Given the description of an element on the screen output the (x, y) to click on. 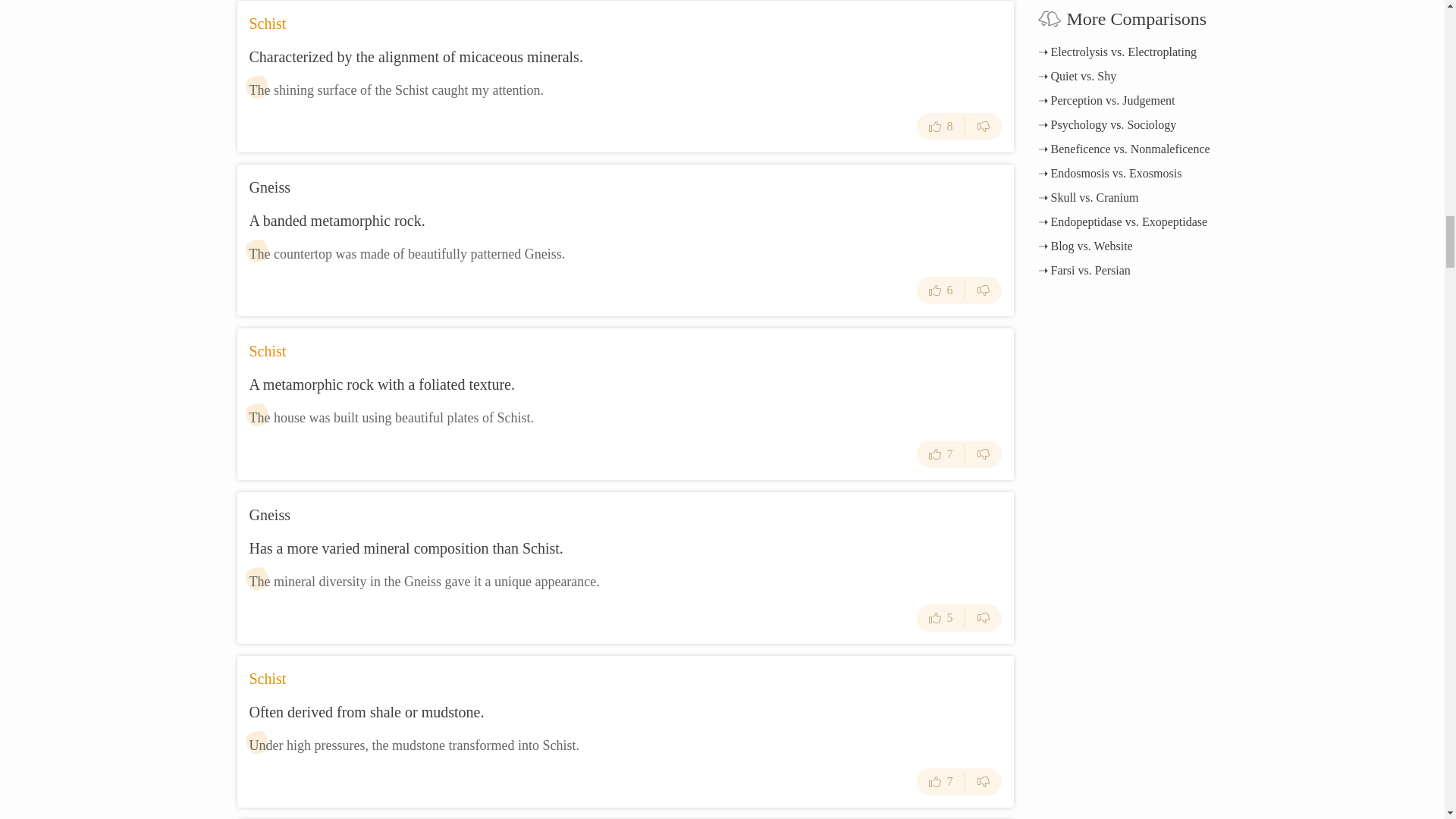
7 (939, 453)
6 (939, 289)
8 (939, 126)
